Given the description of an element on the screen output the (x, y) to click on. 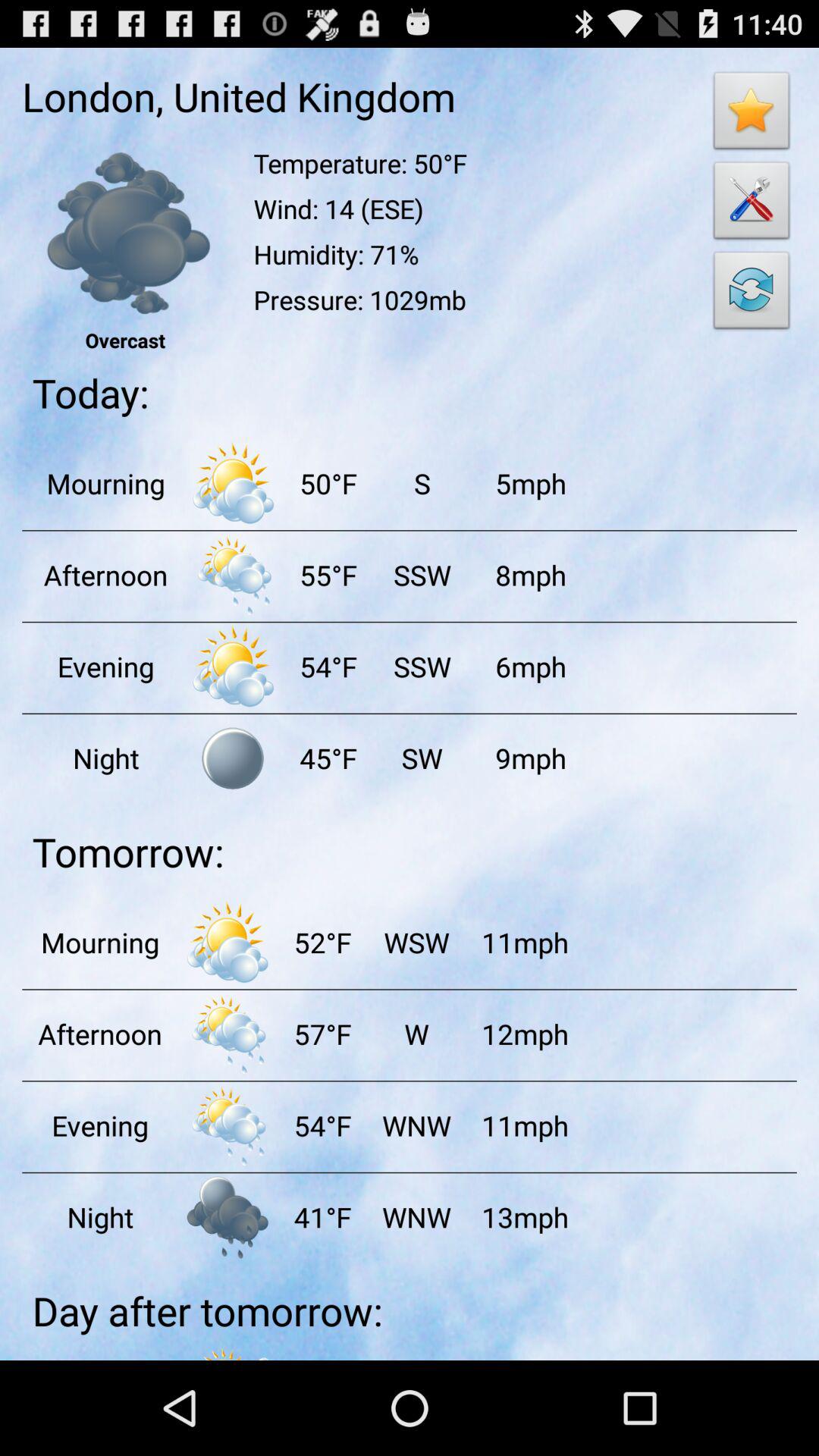
star rating (751, 114)
